Given the description of an element on the screen output the (x, y) to click on. 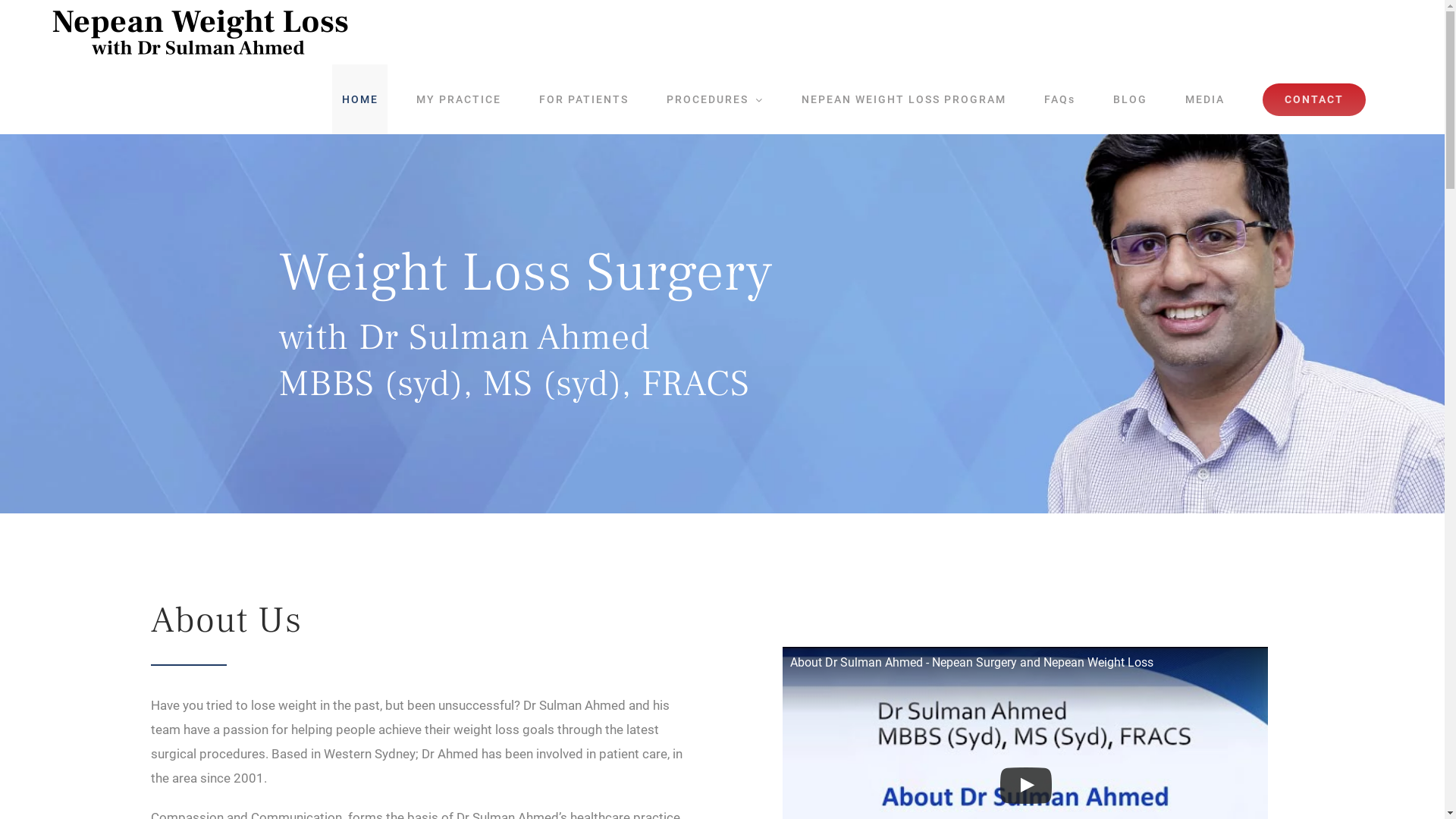
PROCEDURES Element type: text (714, 99)
BLOG Element type: text (1129, 99)
NEPEAN WEIGHT LOSS PROGRAM Element type: text (903, 99)
FAQs Element type: text (1059, 99)
MEDIA Element type: text (1204, 99)
MY PRACTICE Element type: text (458, 99)
HOME Element type: text (359, 99)
CONTACT Element type: text (1313, 99)
FOR PATIENTS Element type: text (583, 99)
